Given the description of an element on the screen output the (x, y) to click on. 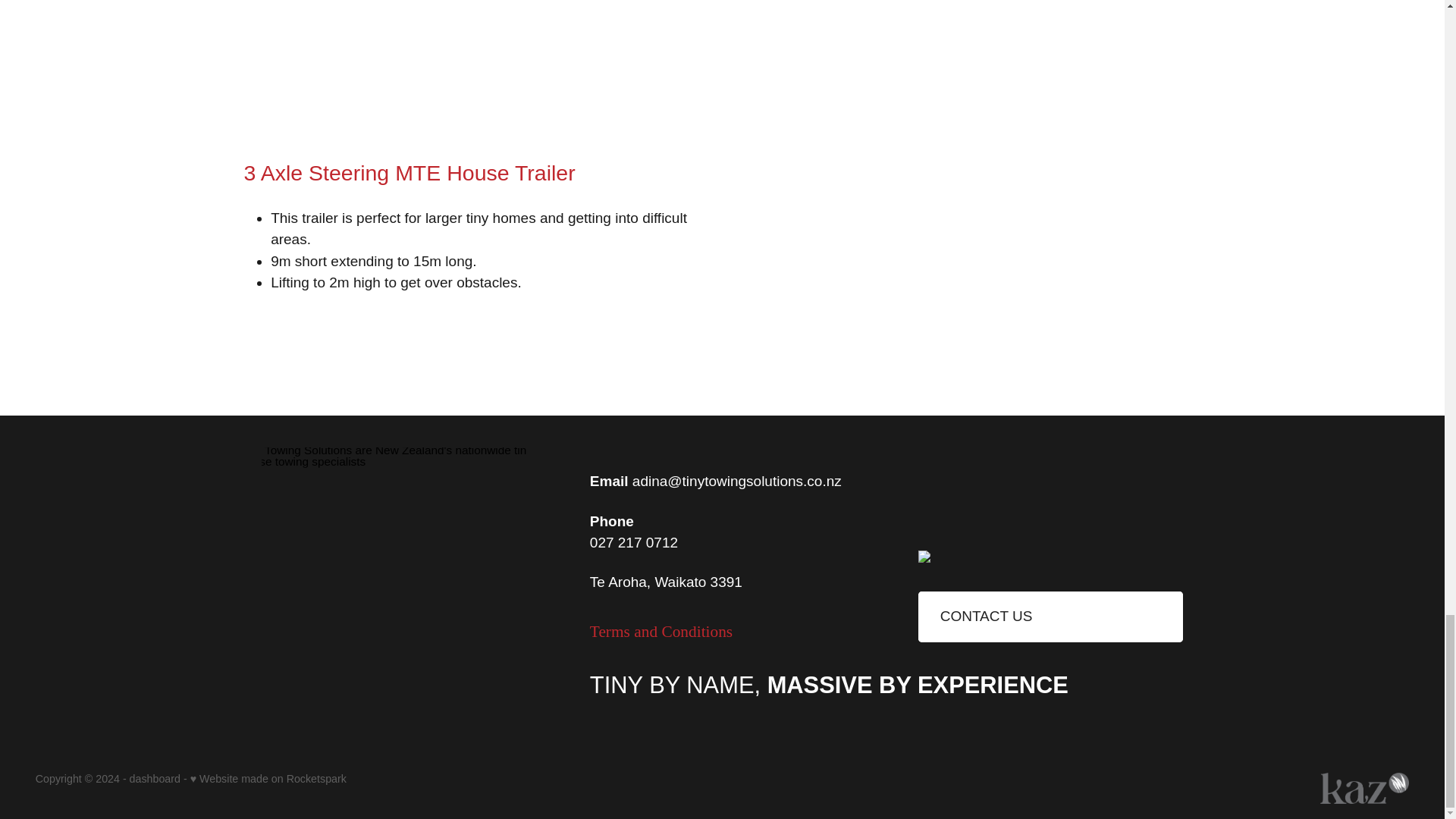
CONTACT US (1050, 616)
Terms and Conditions (660, 631)
dashboard (154, 778)
